Given the description of an element on the screen output the (x, y) to click on. 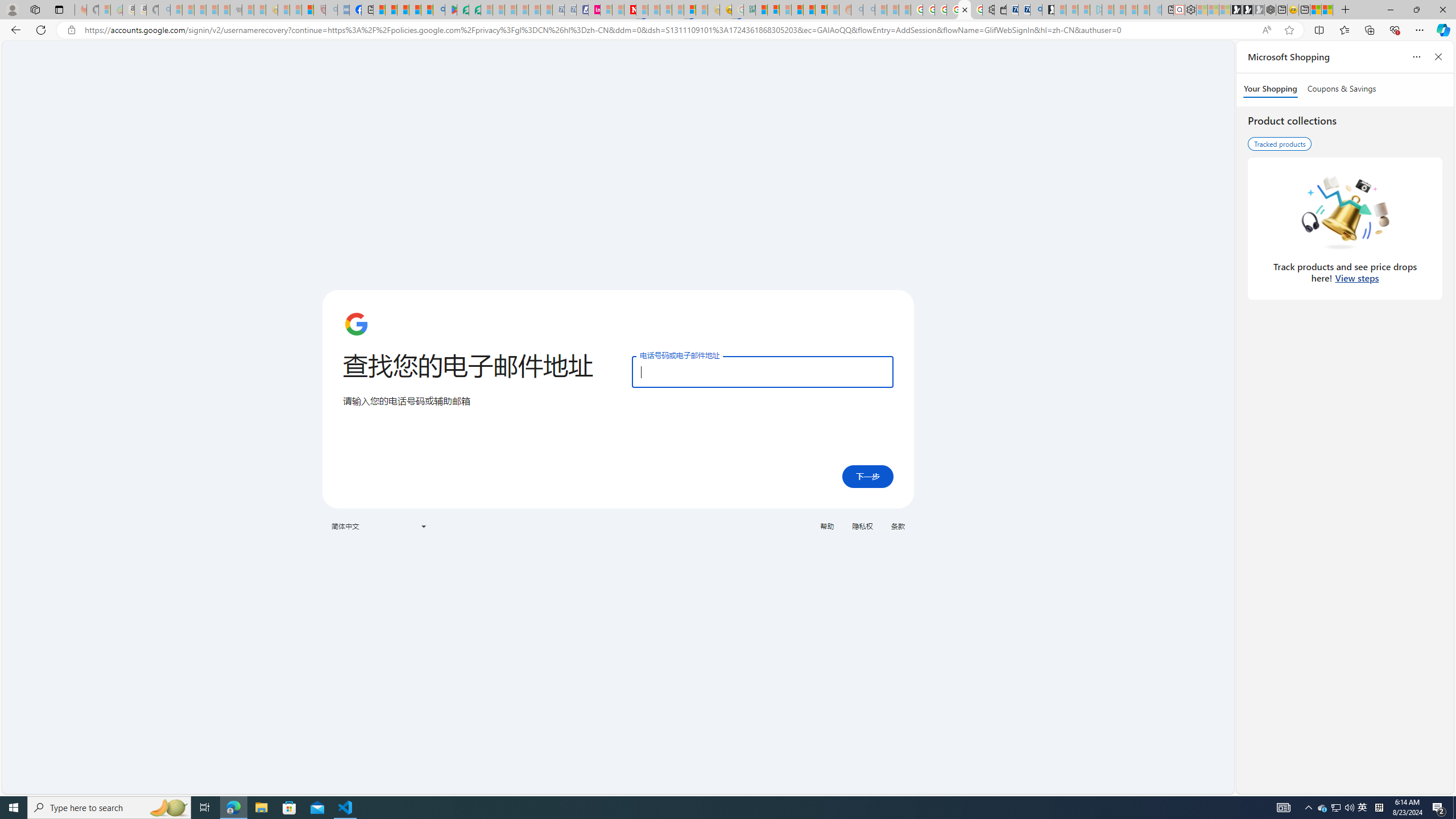
Bluey: Let's Play! - Apps on Google Play (450, 9)
Bing Real Estate - Home sales and rental listings (1035, 9)
Wallet (1000, 9)
